Given the description of an element on the screen output the (x, y) to click on. 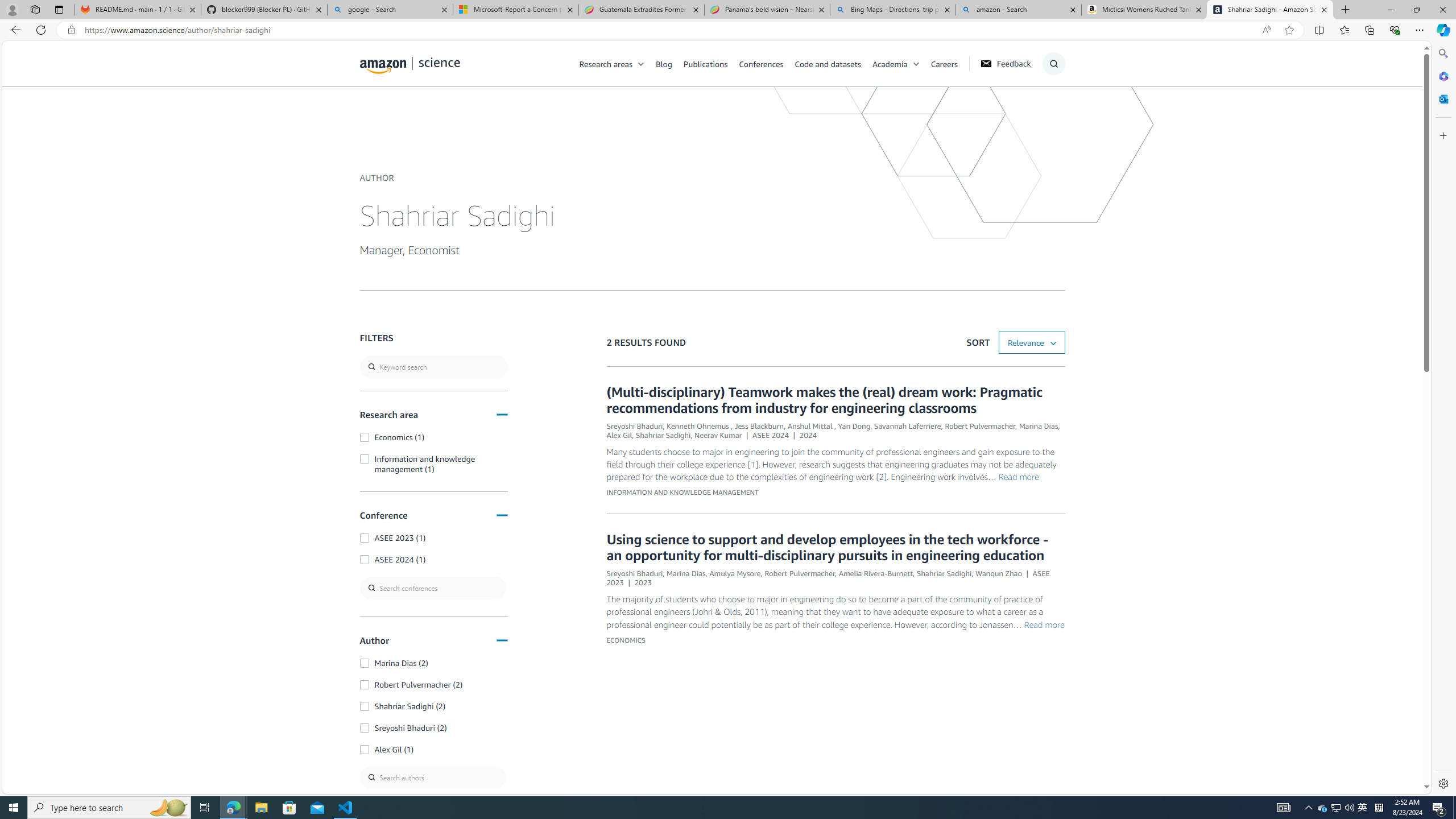
Class: chevron (916, 66)
Wanqun Zhao (998, 573)
Sreyoshi Bhaduri (633, 573)
Outlook (1442, 98)
Class: icon-magnify (372, 108)
